Given the description of an element on the screen output the (x, y) to click on. 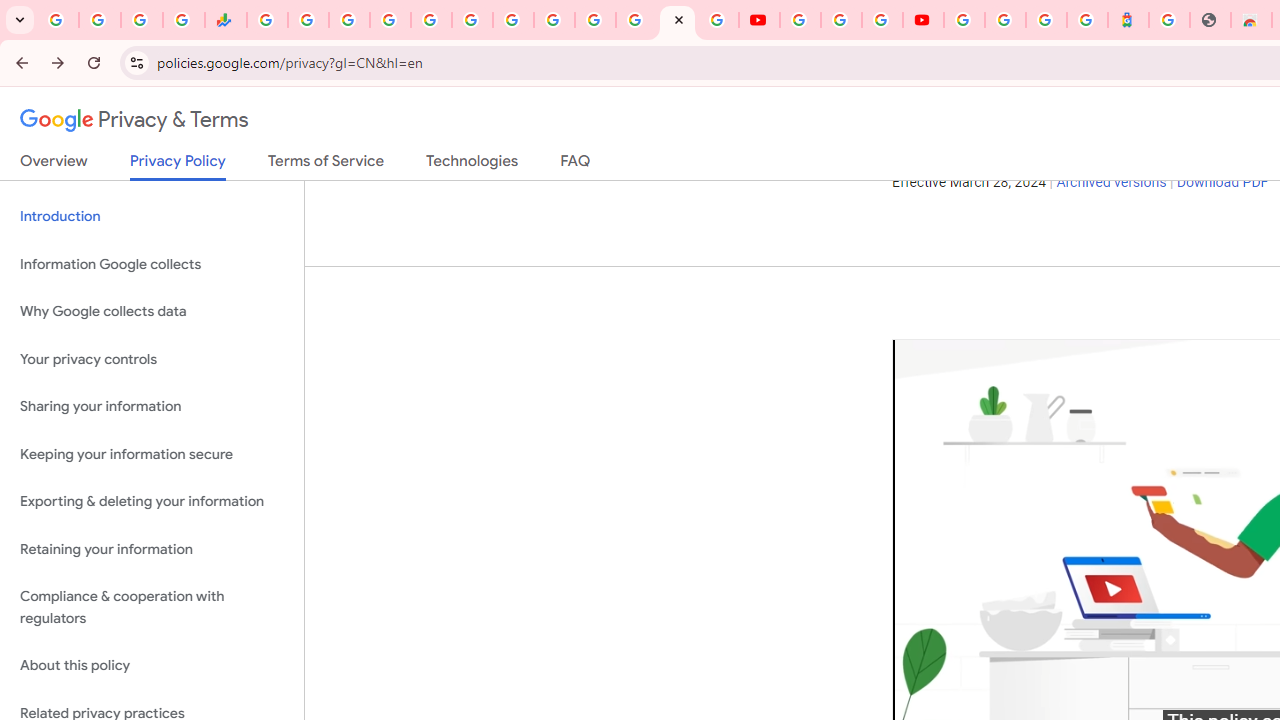
Privacy Checkup (717, 20)
